Given the description of an element on the screen output the (x, y) to click on. 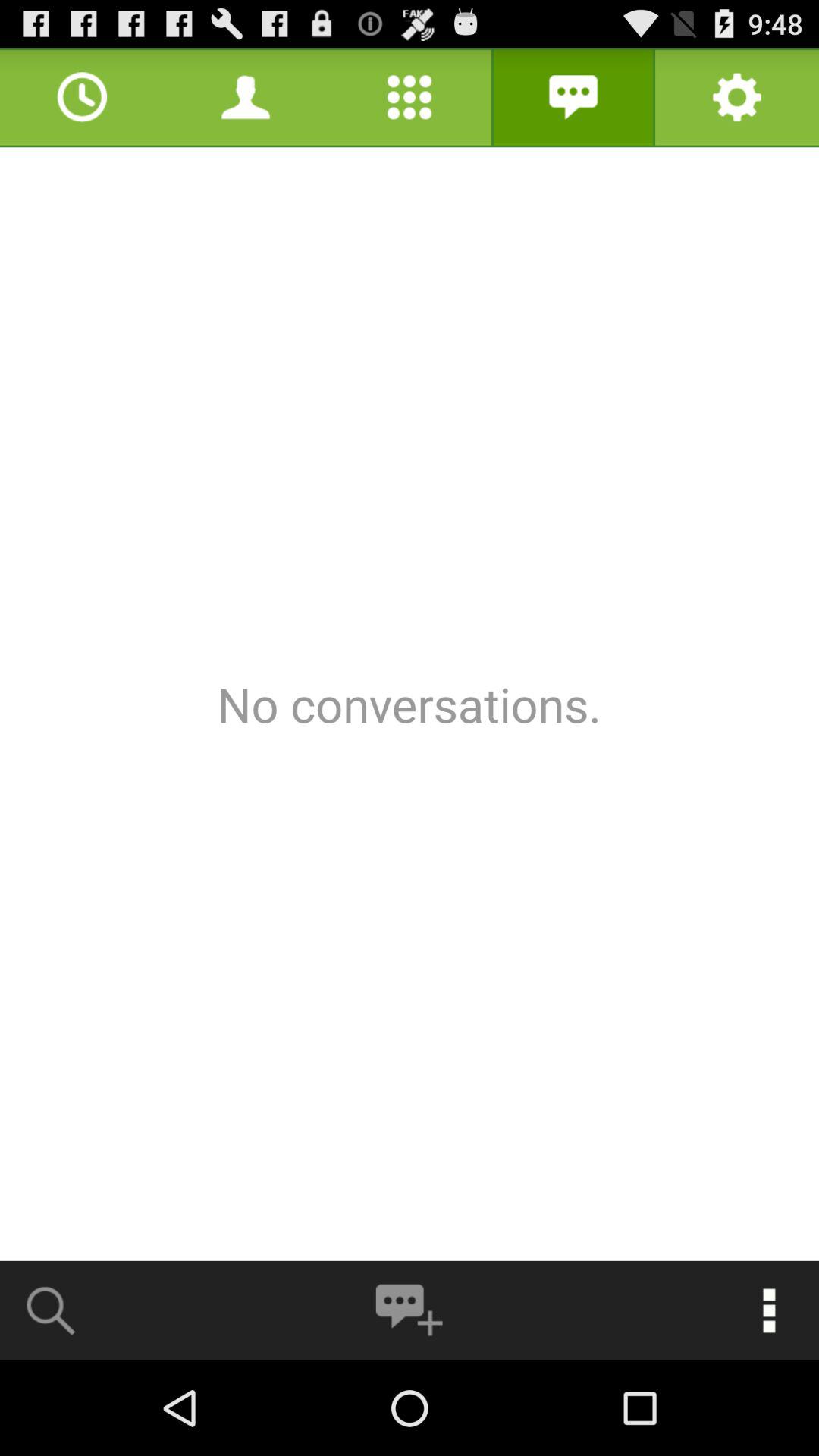
go to message add (409, 1310)
